Given the description of an element on the screen output the (x, y) to click on. 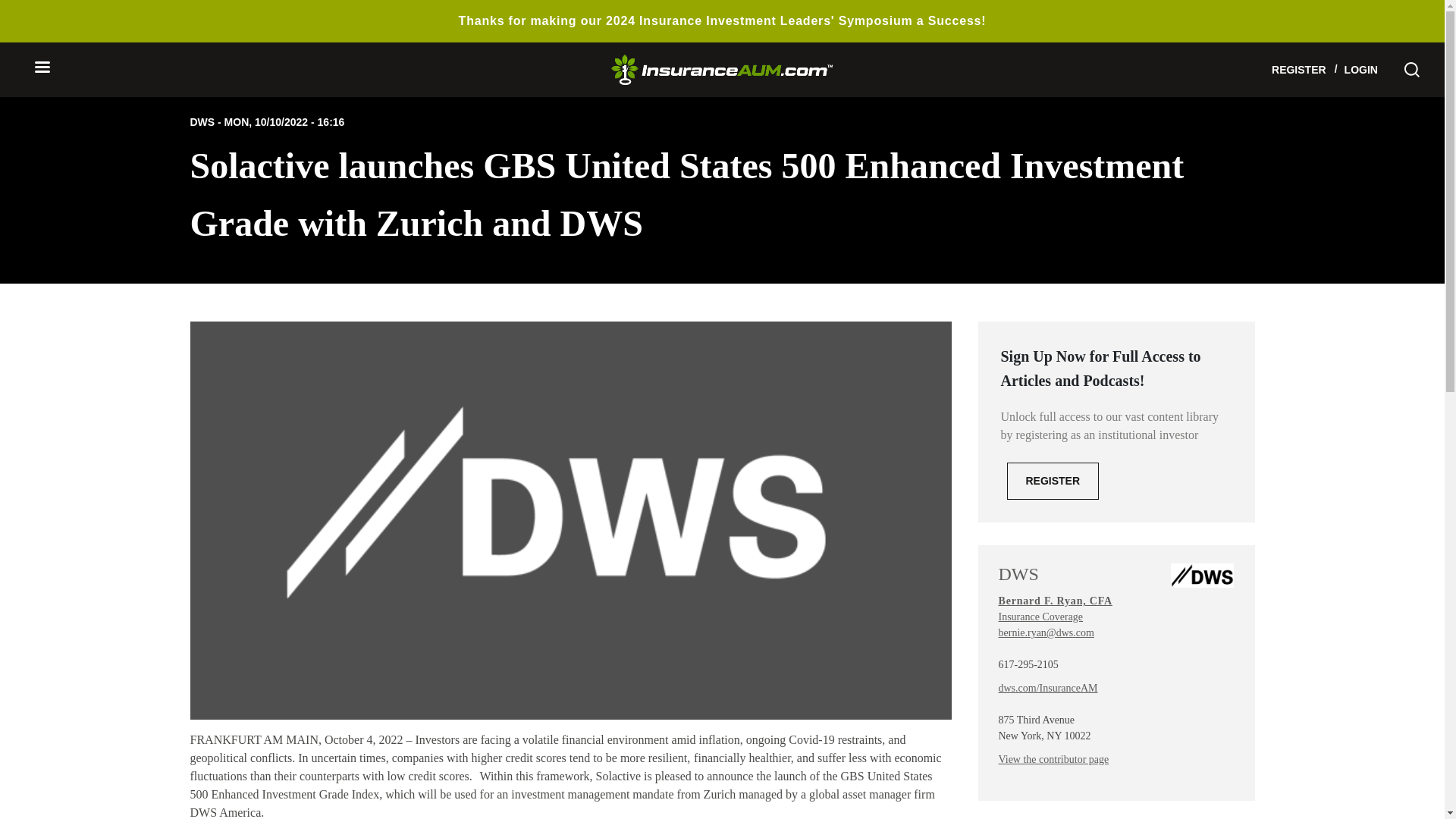
Skip to main content (56, 9)
LOGIN (1360, 69)
Menu (41, 68)
REGISTER (1298, 69)
